Given the description of an element on the screen output the (x, y) to click on. 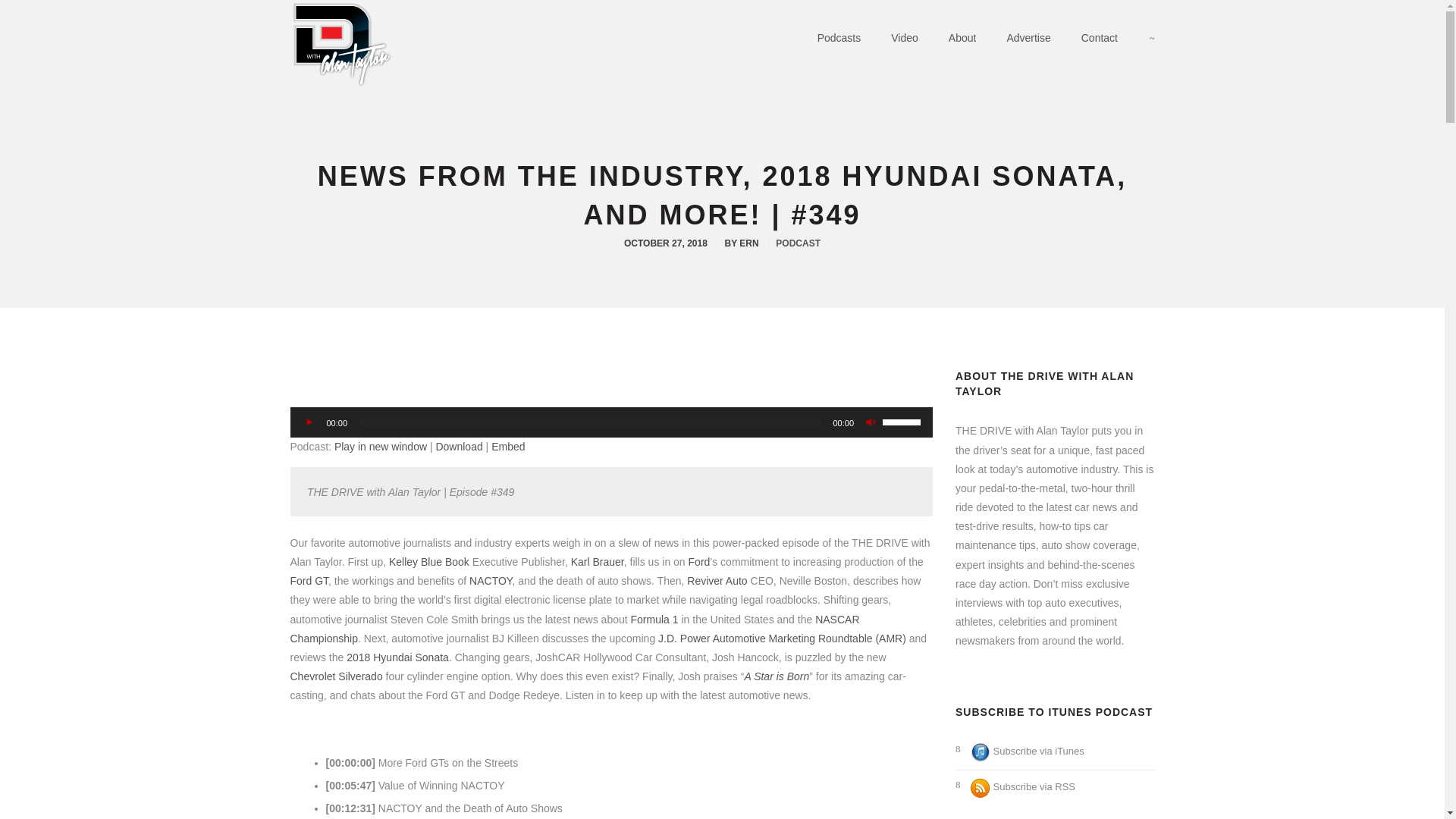
Play in new window (380, 446)
NACTOY (490, 580)
Mute (870, 421)
2018 Hyundai Sonata (397, 657)
Play in new window (380, 446)
Chevrolet Silverado (335, 676)
Ford GT (309, 580)
PODCAST (798, 243)
NASCAR (837, 619)
A Star is Born (776, 676)
Ford (699, 562)
Embed (508, 446)
Download (458, 446)
Championship (323, 638)
Karl Brauer (597, 562)
